Given the description of an element on the screen output the (x, y) to click on. 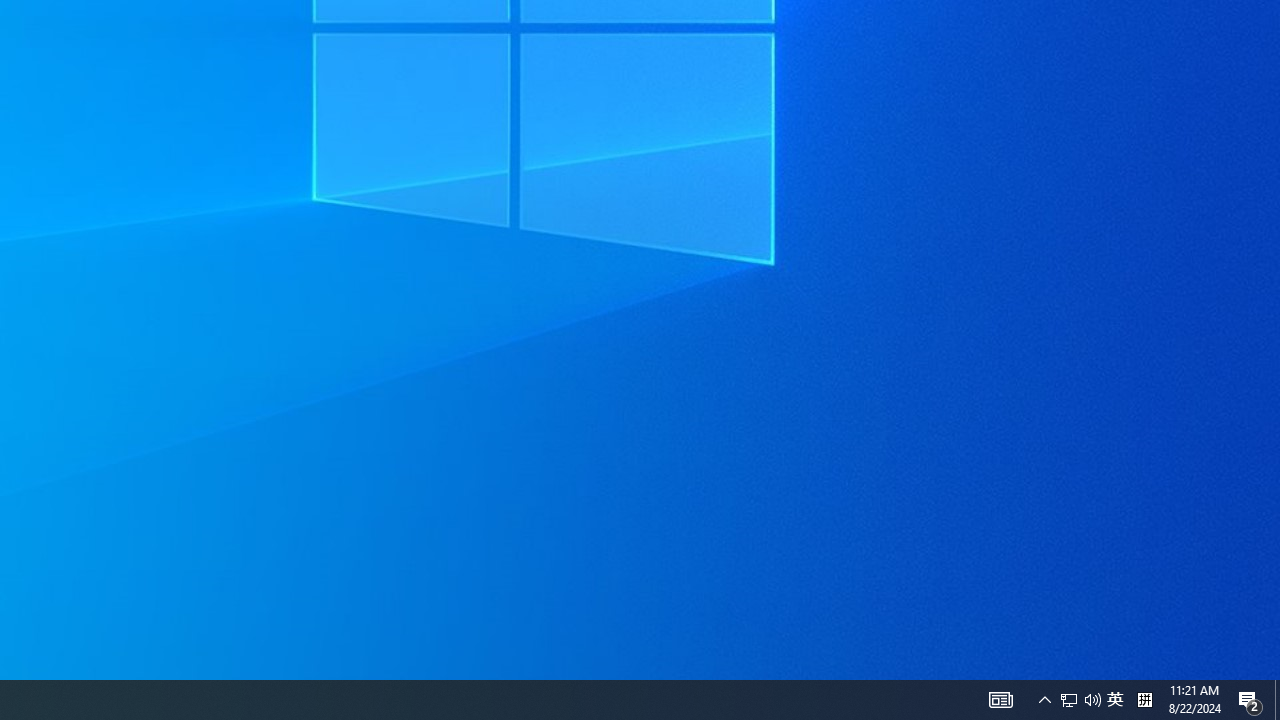
AutomationID: 4105 (1000, 699)
User Promoted Notification Area (1069, 699)
Q2790: 100% (1080, 699)
Show desktop (1092, 699)
Action Center, 2 new notifications (1277, 699)
Notification Chevron (1115, 699)
Tray Input Indicator - Chinese (Simplified, China) (1250, 699)
